Given the description of an element on the screen output the (x, y) to click on. 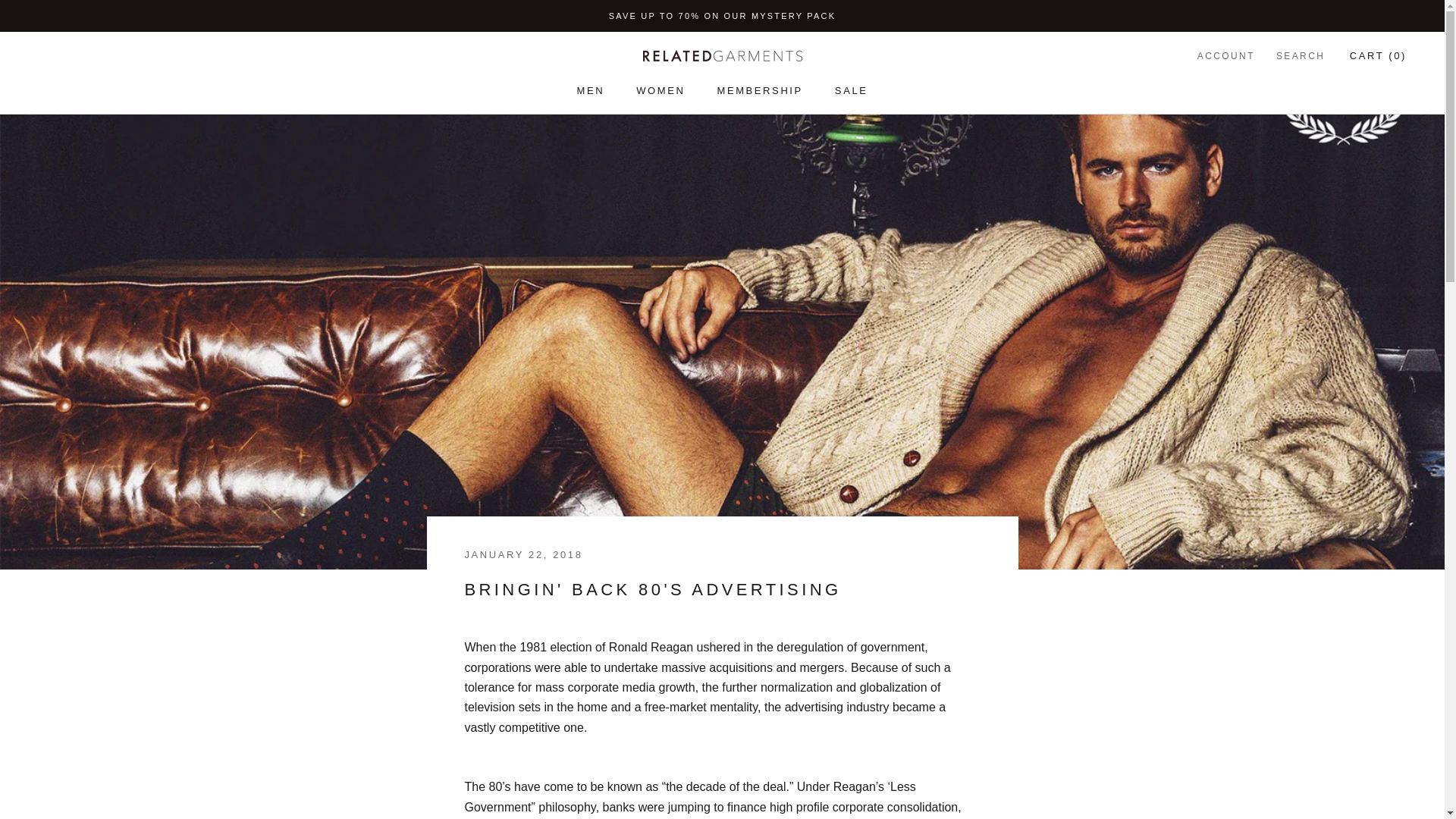
MEN (590, 90)
